Given the description of an element on the screen output the (x, y) to click on. 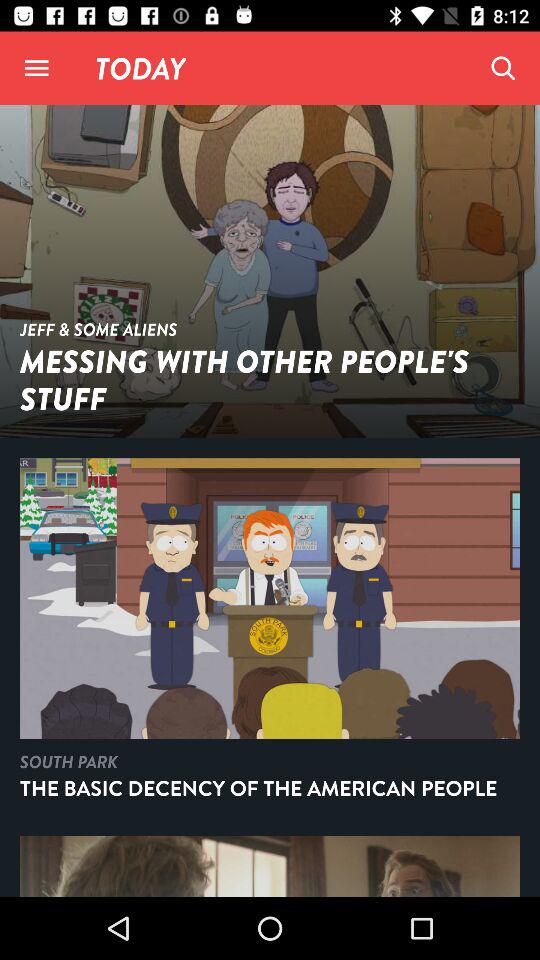
2nd image of the page (269, 636)
click on second image (269, 598)
